Given the description of an element on the screen output the (x, y) to click on. 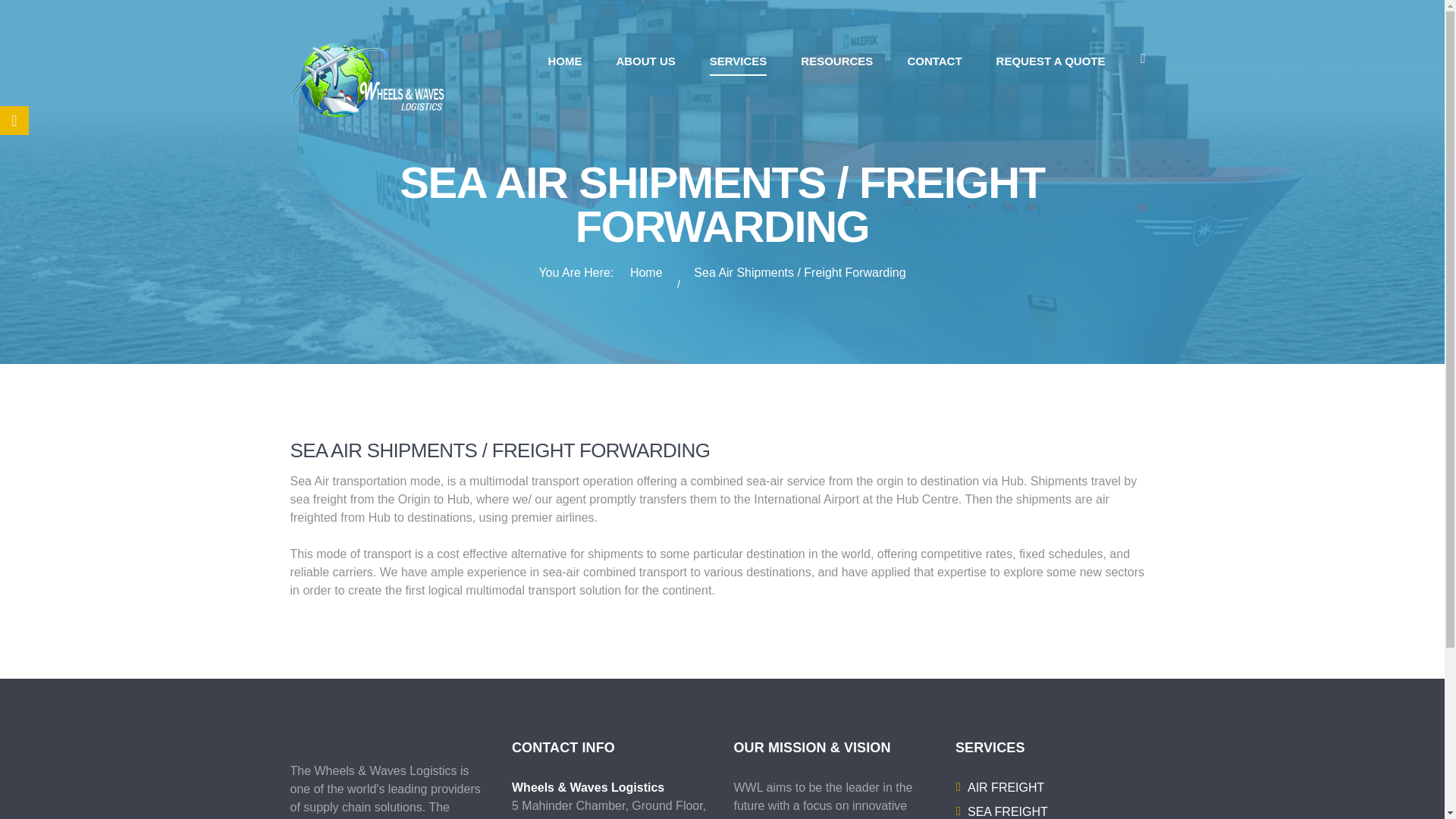
RESOURCES (836, 61)
SERVICES (738, 61)
ABOUT US (645, 61)
HOME (563, 61)
Open search (1142, 57)
